Given the description of an element on the screen output the (x, y) to click on. 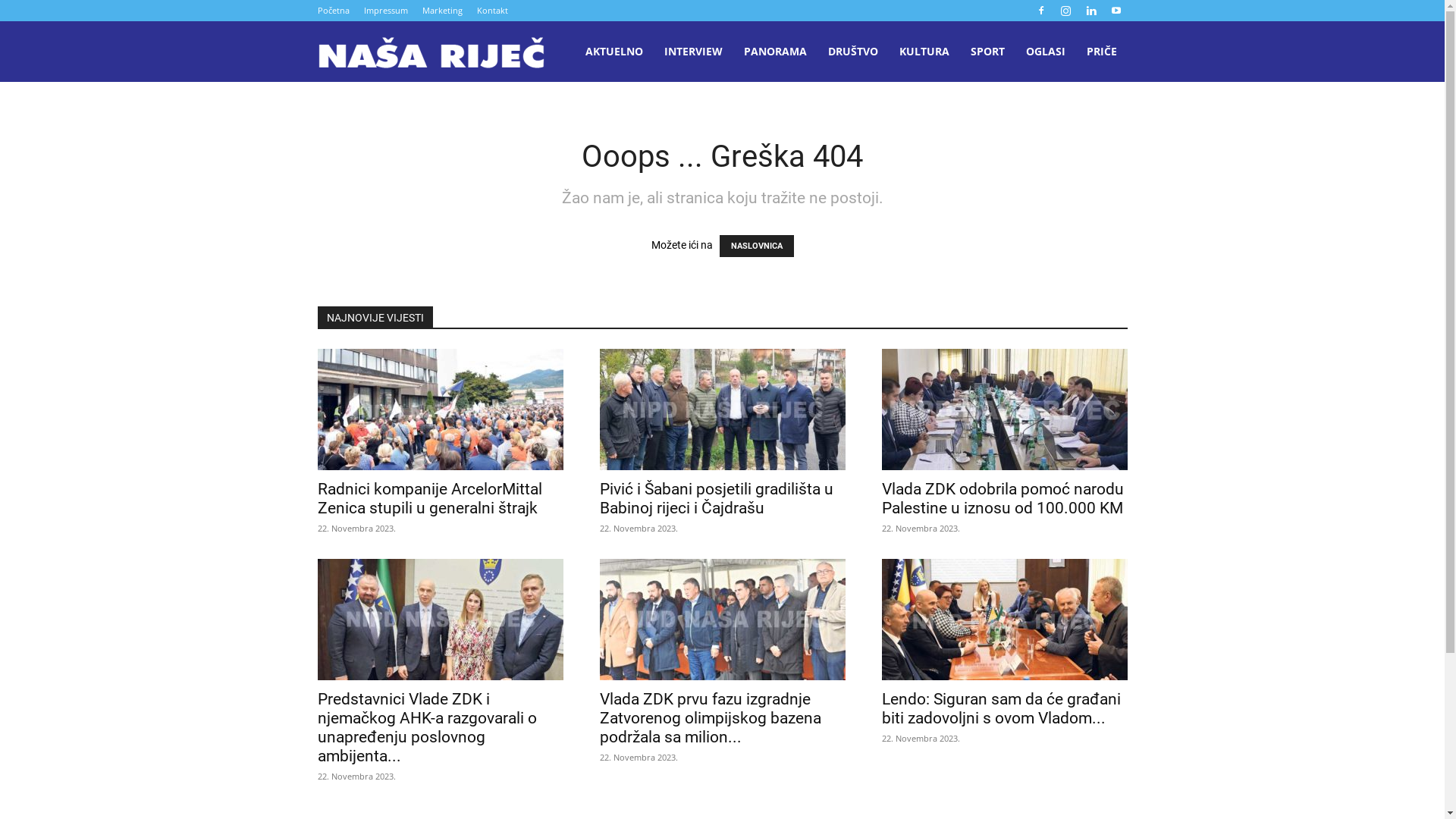
Facebook Element type: hover (1040, 10)
Marketing Element type: text (441, 9)
AKTUELNO Element type: text (613, 51)
Linkedin Element type: hover (1090, 10)
Kontakt Element type: text (491, 9)
Youtube Element type: hover (1115, 10)
SPORT Element type: text (987, 51)
INTERVIEW Element type: text (693, 51)
Instagram Element type: hover (1065, 10)
NASLOVNICA Element type: text (755, 246)
PANORAMA Element type: text (774, 51)
KULTURA Element type: text (924, 51)
Impressum Element type: text (385, 9)
OGLASI Element type: text (1044, 51)
